Given the description of an element on the screen output the (x, y) to click on. 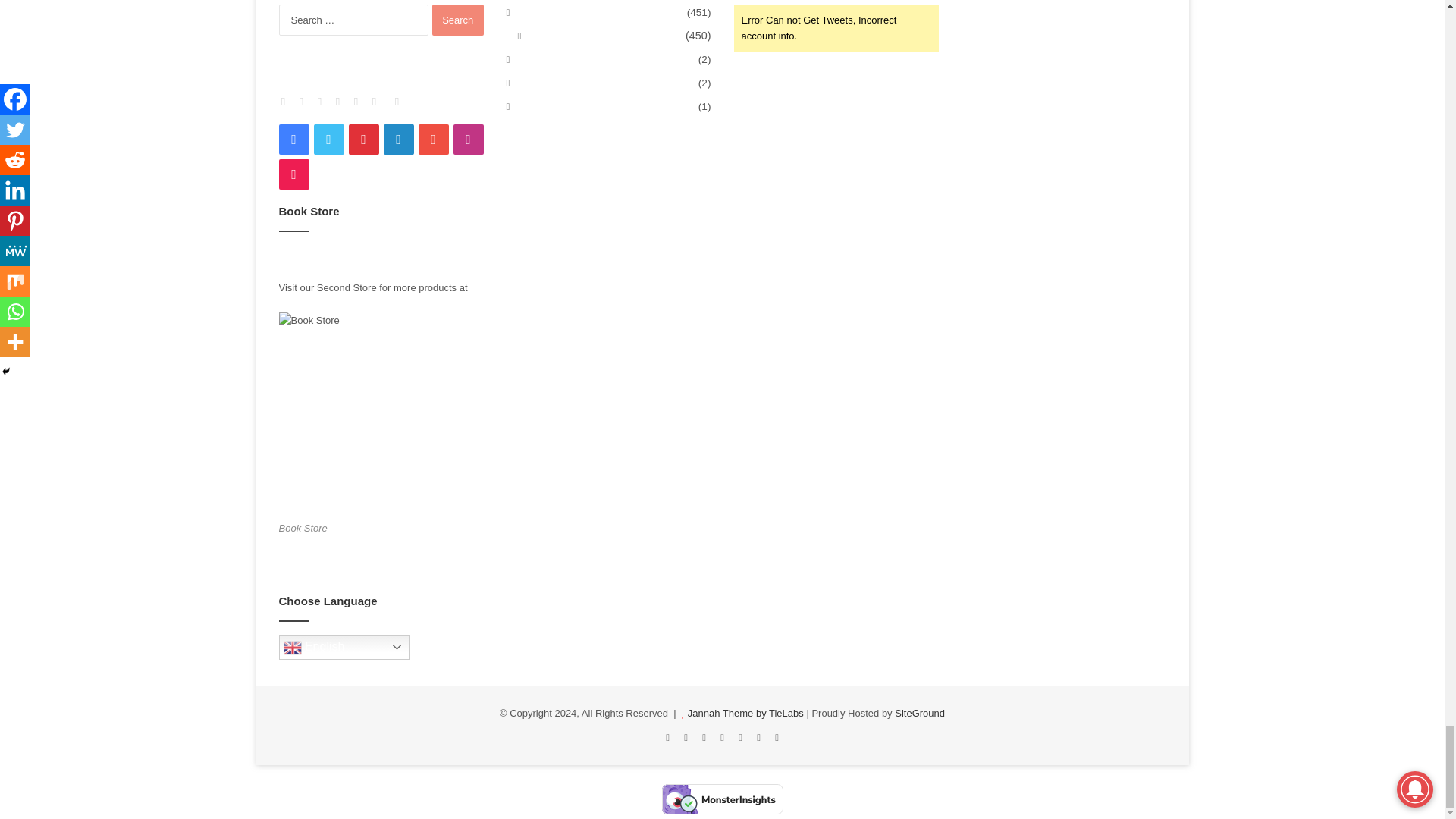
Search (457, 20)
Search (457, 20)
